Given the description of an element on the screen output the (x, y) to click on. 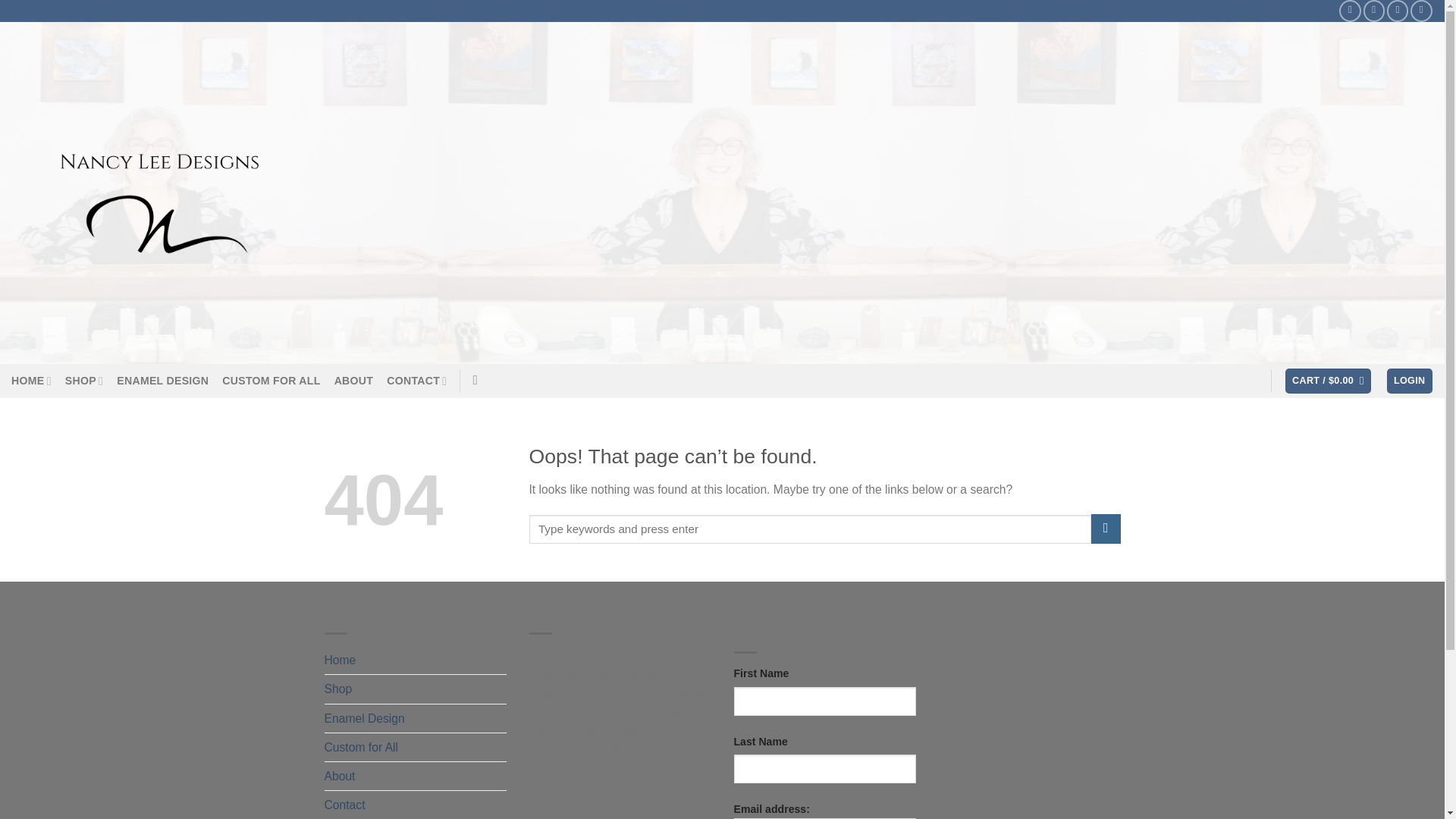
HOME (30, 380)
Contact (408, 805)
Enamel Design (364, 718)
Home (408, 660)
SHOP (84, 380)
ABOUT (354, 380)
Custom for All (361, 747)
Follow on Instagram (1374, 11)
About (339, 776)
Cart (1328, 380)
Shop (408, 688)
CUSTOM FOR ALL (271, 380)
Login (1409, 380)
LOGIN (1409, 380)
Follow on Facebook (1350, 11)
